Given the description of an element on the screen output the (x, y) to click on. 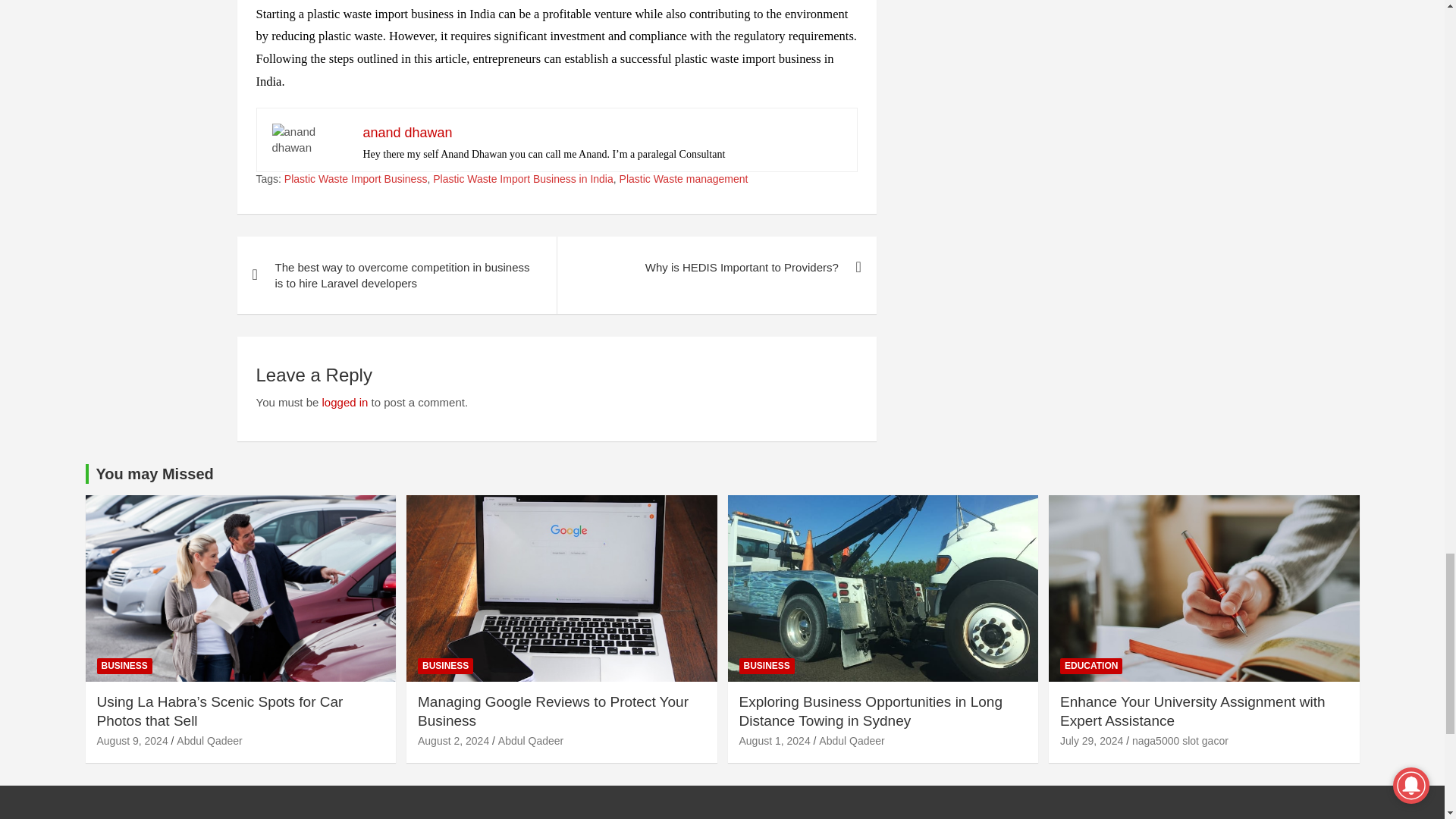
Plastic Waste Import Business in India (522, 179)
anand dhawan (406, 132)
Managing Google Reviews to Protect Your Business (453, 740)
Plastic Waste management (684, 179)
logged in (344, 401)
Why is HEDIS Important to Providers? (716, 267)
Plastic Waste Import Business (355, 179)
